Given the description of an element on the screen output the (x, y) to click on. 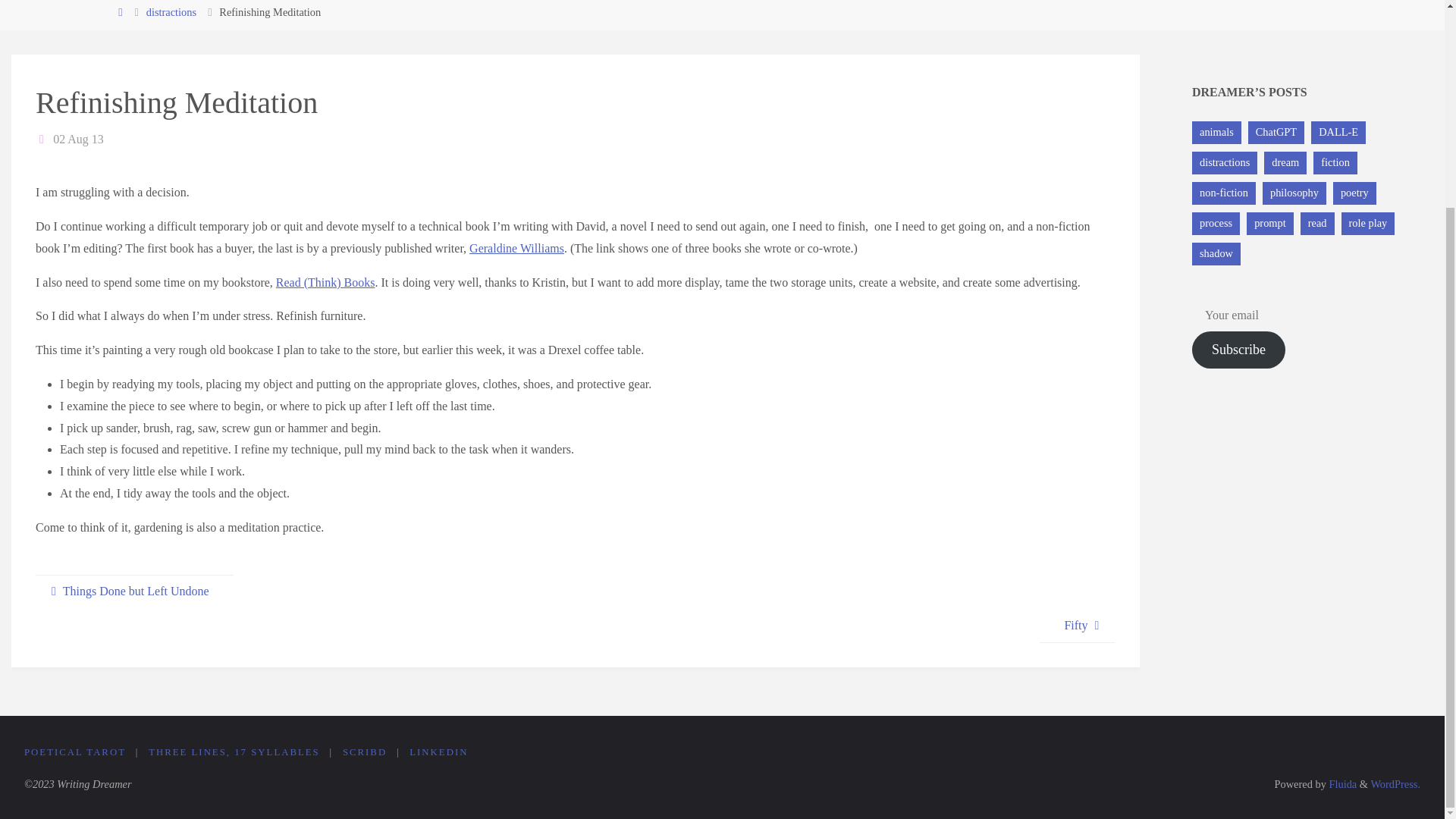
distractions (171, 11)
POETICAL TAROT (74, 751)
distractions (1224, 162)
DALL-E (1338, 132)
THREE LINES, 17 SYLLABLES (234, 751)
non-fiction (1223, 192)
Date (41, 138)
role play (1367, 223)
dream (1284, 162)
Fluida WordPress Theme by Cryout Creations (1341, 784)
